Given the description of an element on the screen output the (x, y) to click on. 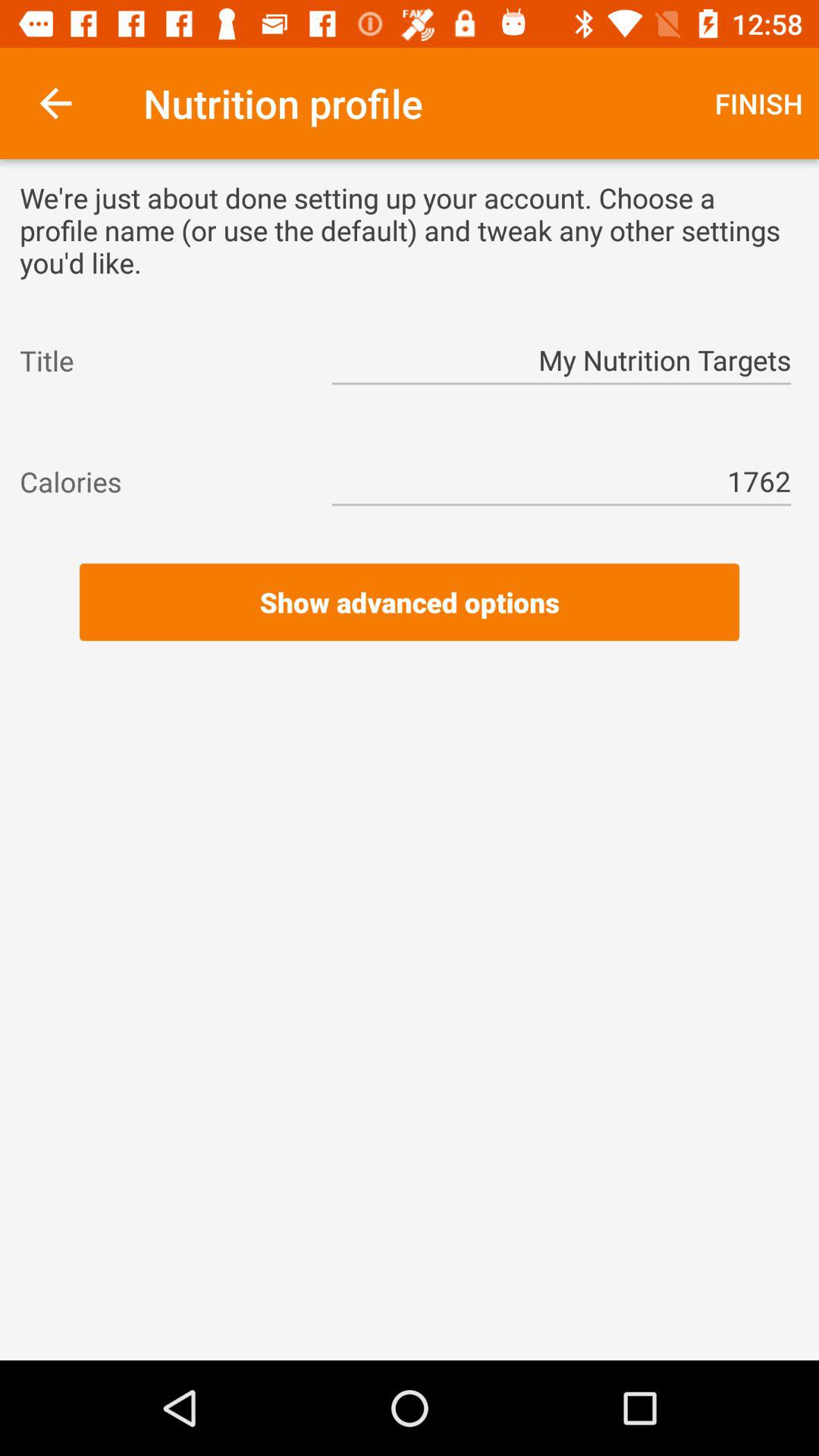
turn on icon next to the nutrition profile (55, 103)
